Given the description of an element on the screen output the (x, y) to click on. 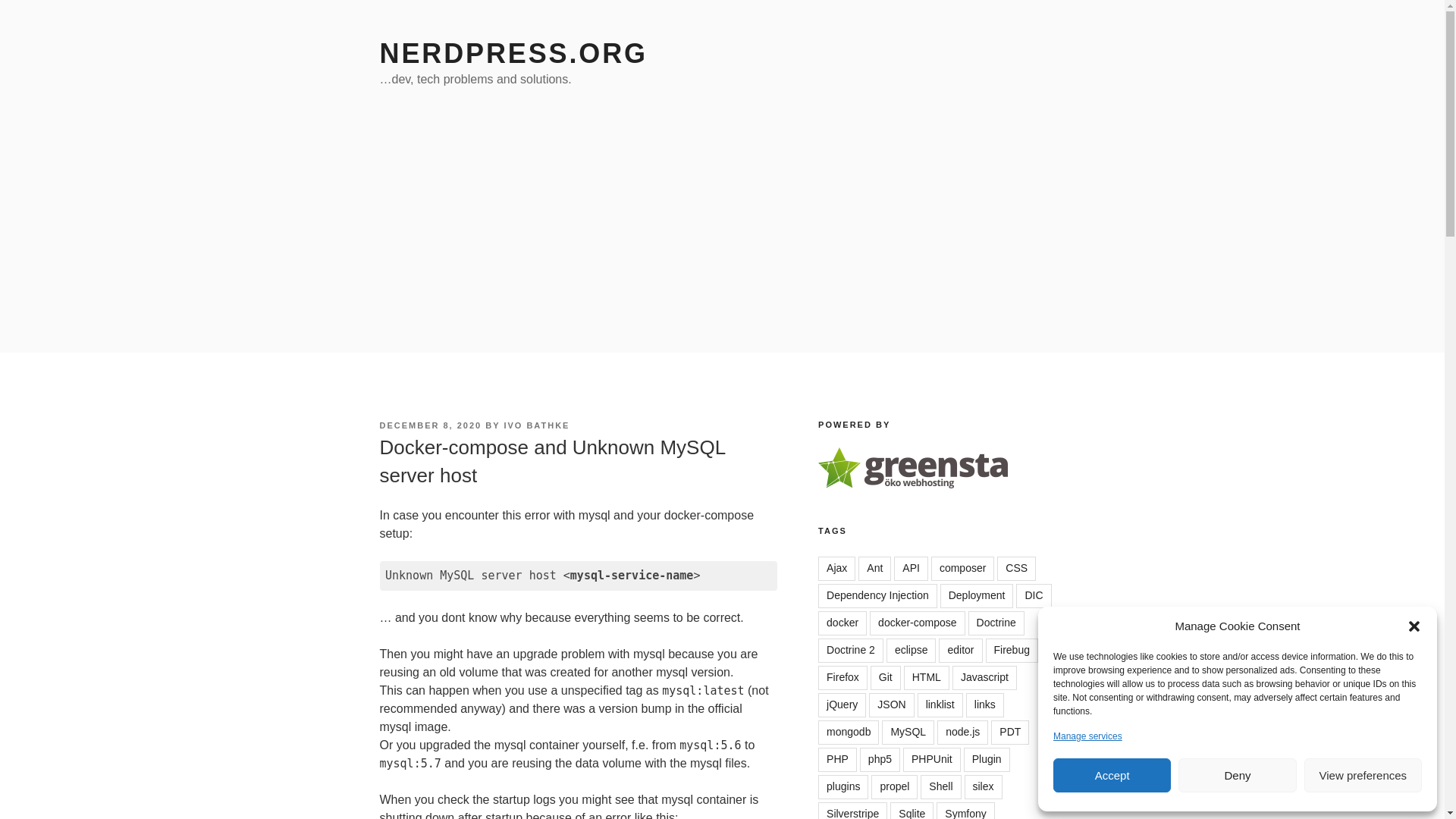
NERDPRESS.ORG (512, 52)
Accept (1111, 775)
Deployment (976, 595)
IVO BATHKE (536, 424)
composer (962, 568)
Doctrine 2 (850, 650)
docker (842, 622)
CSS (1016, 568)
Ajax (837, 568)
docker-compose (917, 622)
DIC (1033, 595)
POWERED BY (912, 467)
DECEMBER 8, 2020 (429, 424)
API (910, 568)
